Given the description of an element on the screen output the (x, y) to click on. 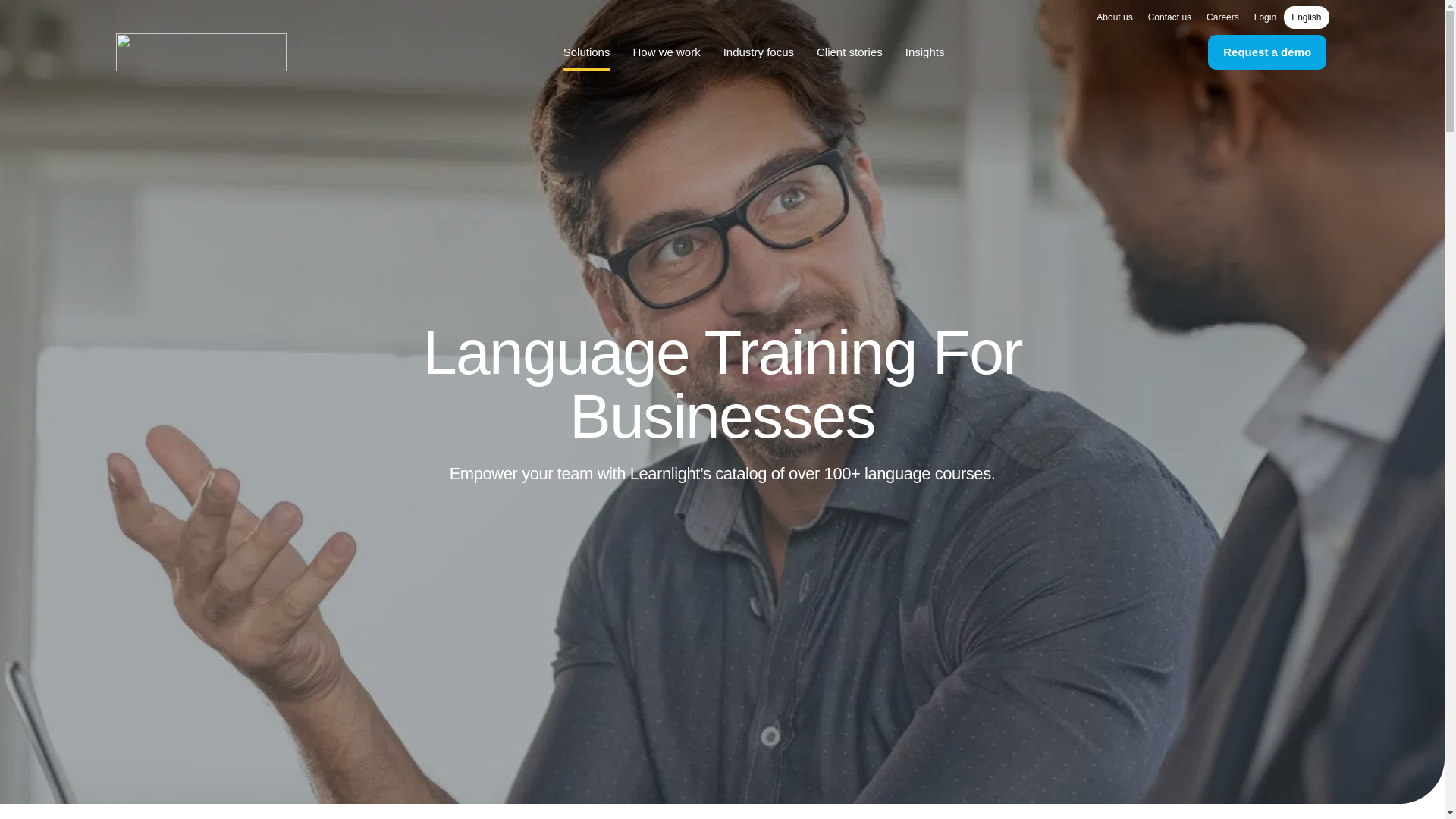
Insights (924, 52)
English (1305, 16)
English (1305, 16)
How we work (665, 52)
Contact us (1169, 16)
Careers (1222, 16)
Client stories (849, 52)
About us (1114, 16)
Login (1265, 16)
Industry focus (758, 52)
